Given the description of an element on the screen output the (x, y) to click on. 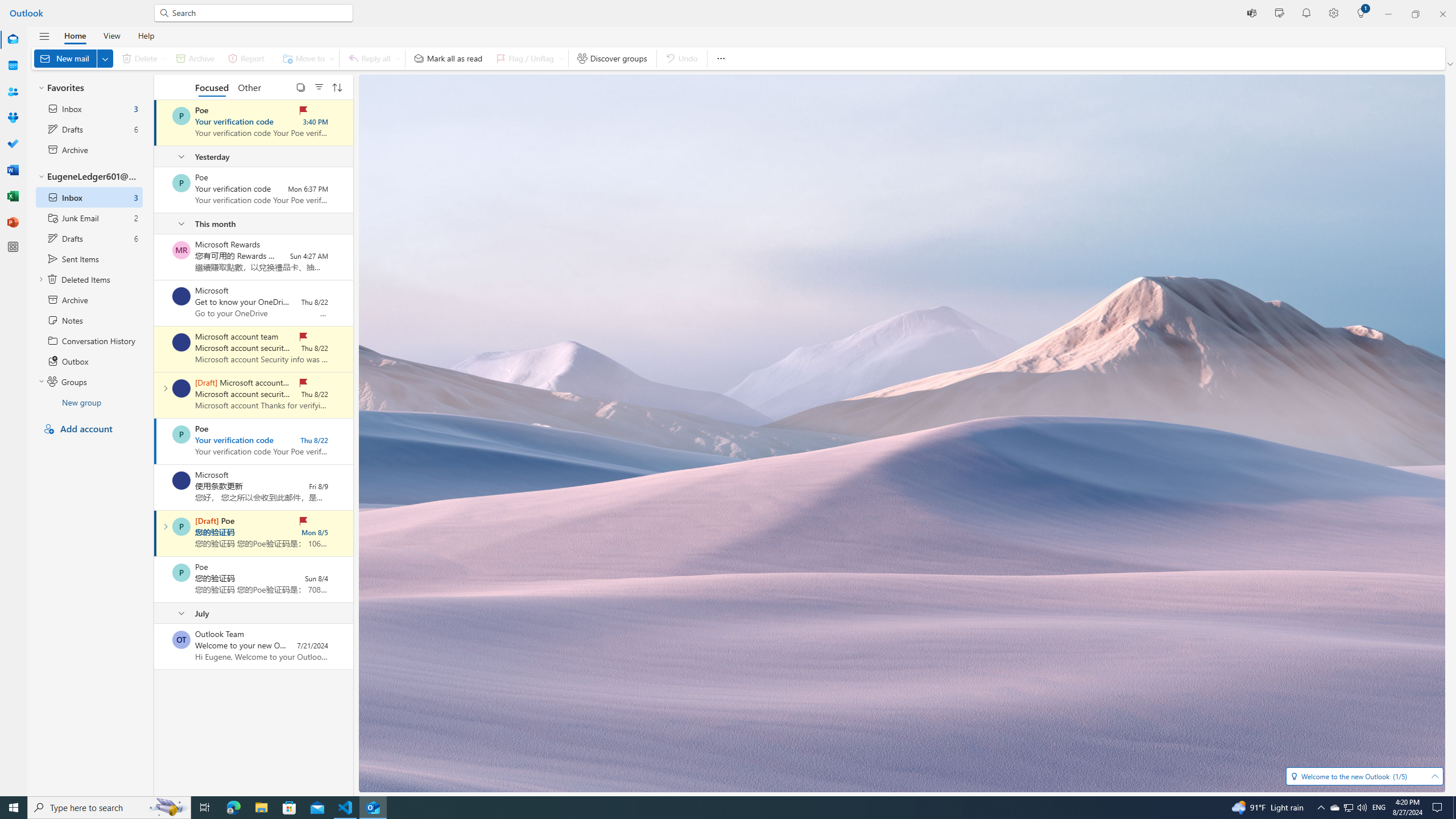
Drafts 6 items (89, 237)
Help (146, 35)
Mark as unread (154, 646)
EugeneLedger601@outlook.com (89, 176)
Move to (306, 58)
Mail (12, 39)
System (6, 6)
Junk Email 2 items (89, 217)
